Given the description of an element on the screen output the (x, y) to click on. 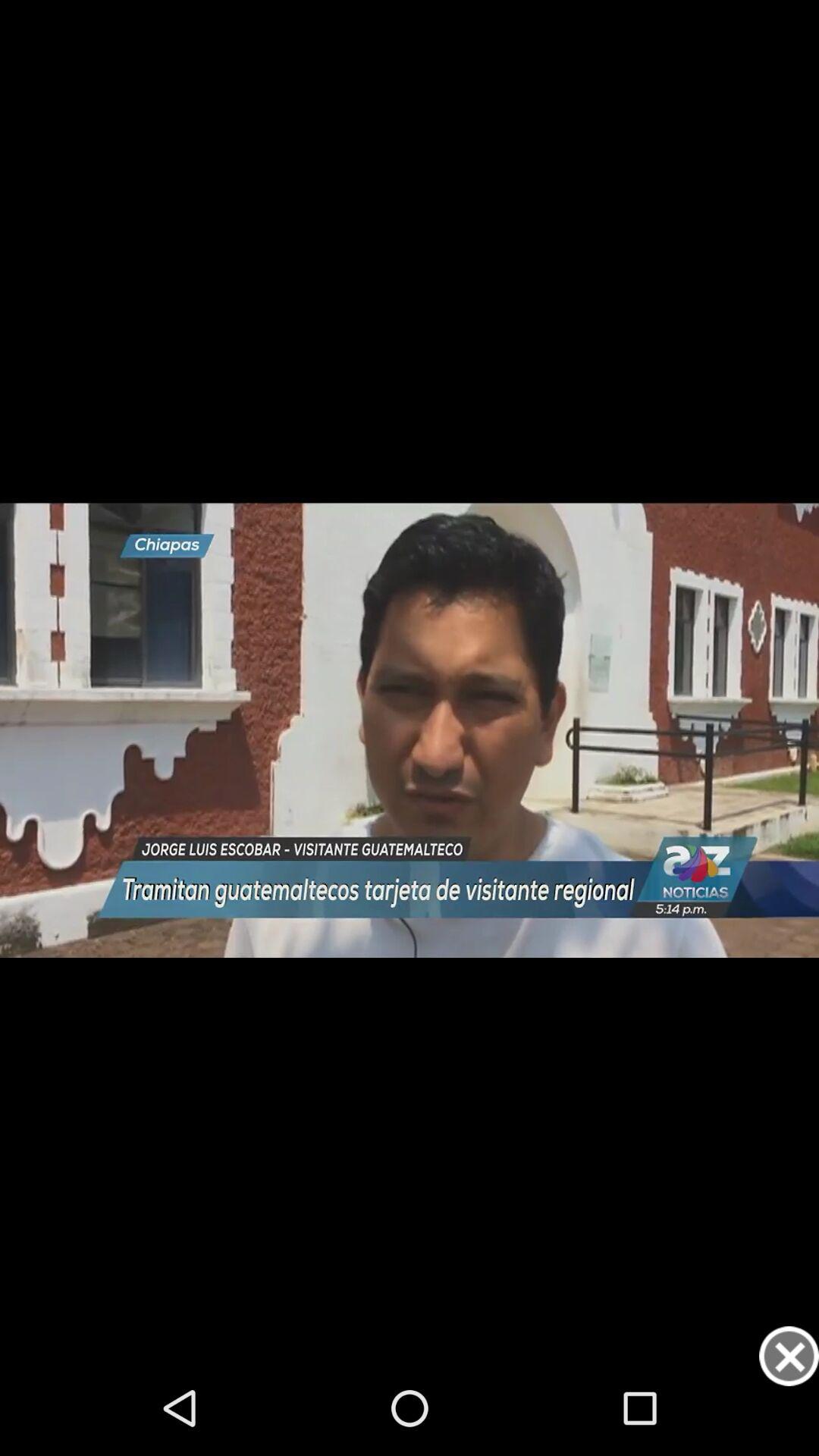
close button (789, 1356)
